Given the description of an element on the screen output the (x, y) to click on. 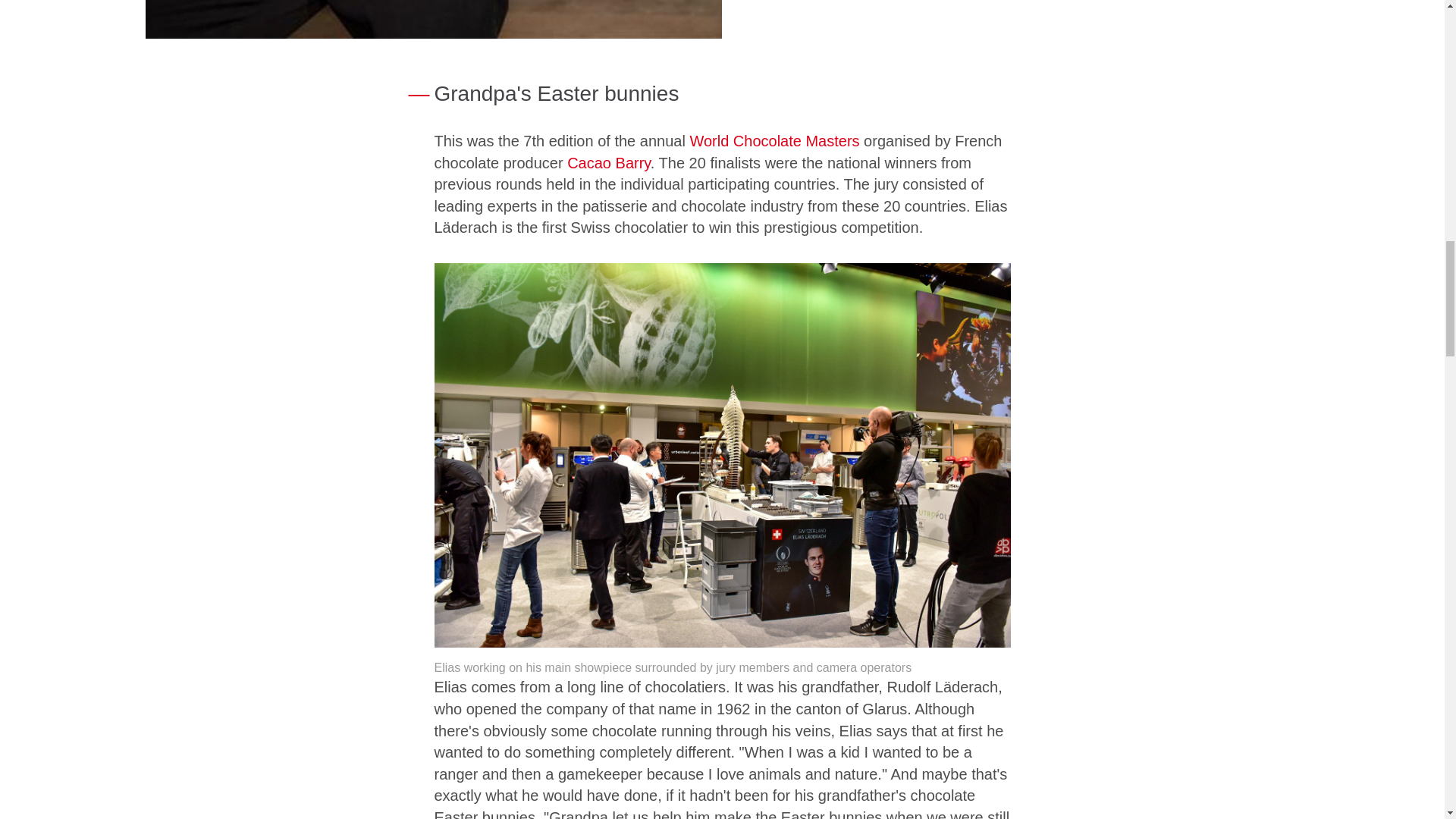
Cacao Barry (608, 162)
World Chocolate Masters (773, 140)
